Given the description of an element on the screen output the (x, y) to click on. 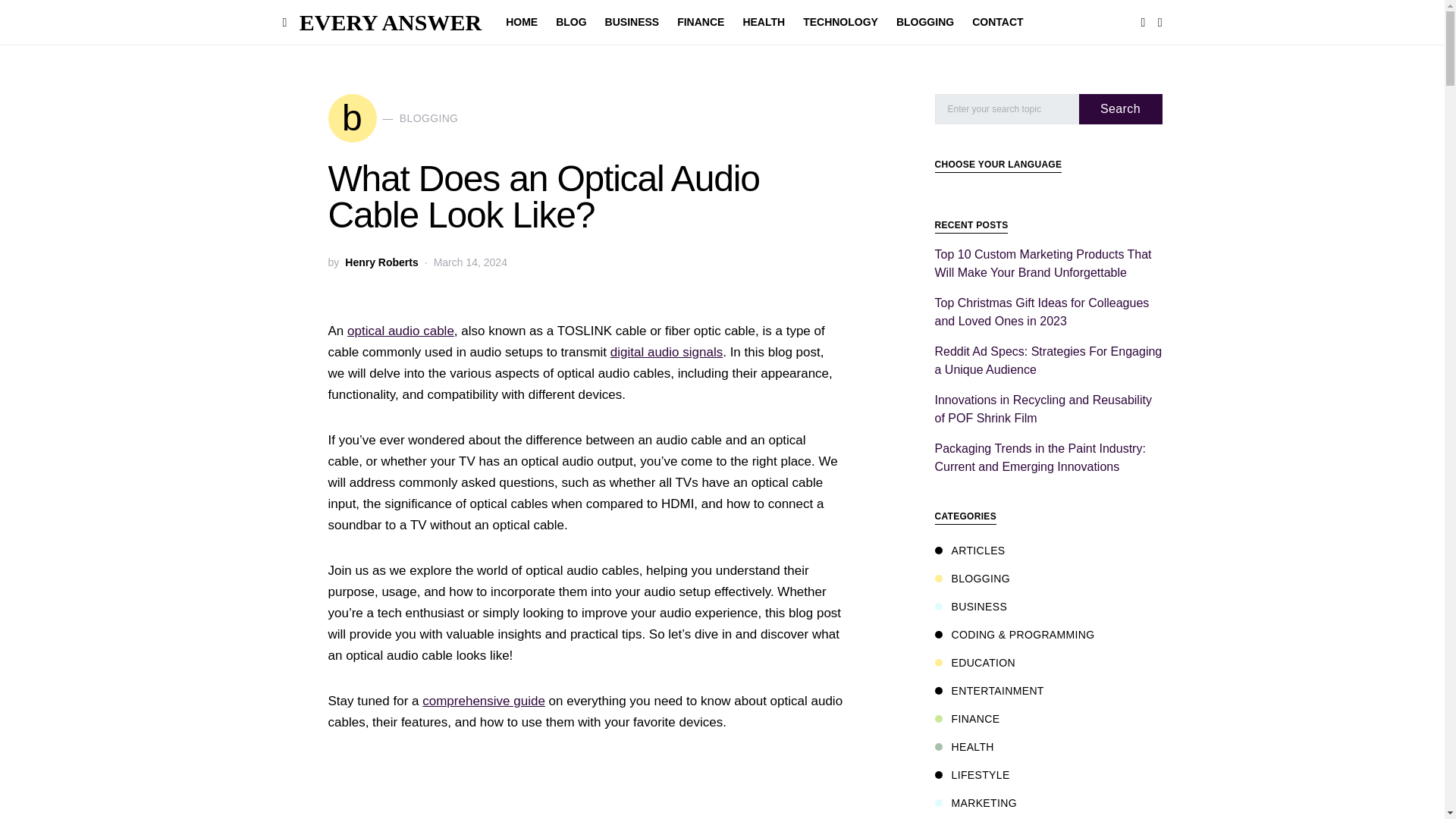
HEALTH (763, 22)
HOME (526, 22)
TECHNOLOGY (839, 22)
EVERY ANSWER (390, 22)
BLOGGING (924, 22)
View all posts by Henry Roberts (381, 261)
FINANCE (700, 22)
BUSINESS (631, 22)
digital audio signals (666, 351)
CONTACT (992, 22)
